Given the description of an element on the screen output the (x, y) to click on. 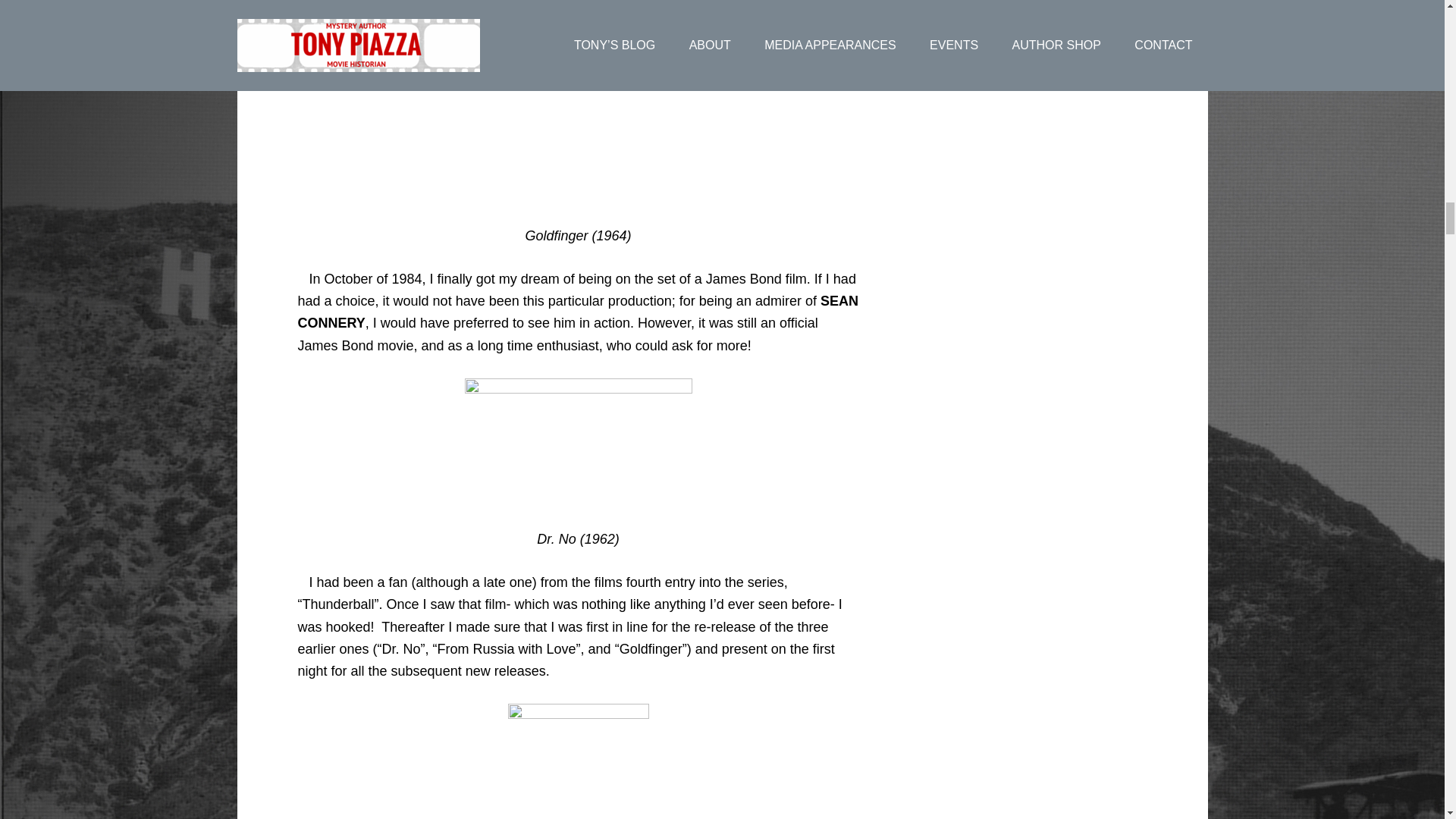
Goldfinger (577, 118)
sc001 (577, 442)
thunderball (578, 761)
